Given the description of an element on the screen output the (x, y) to click on. 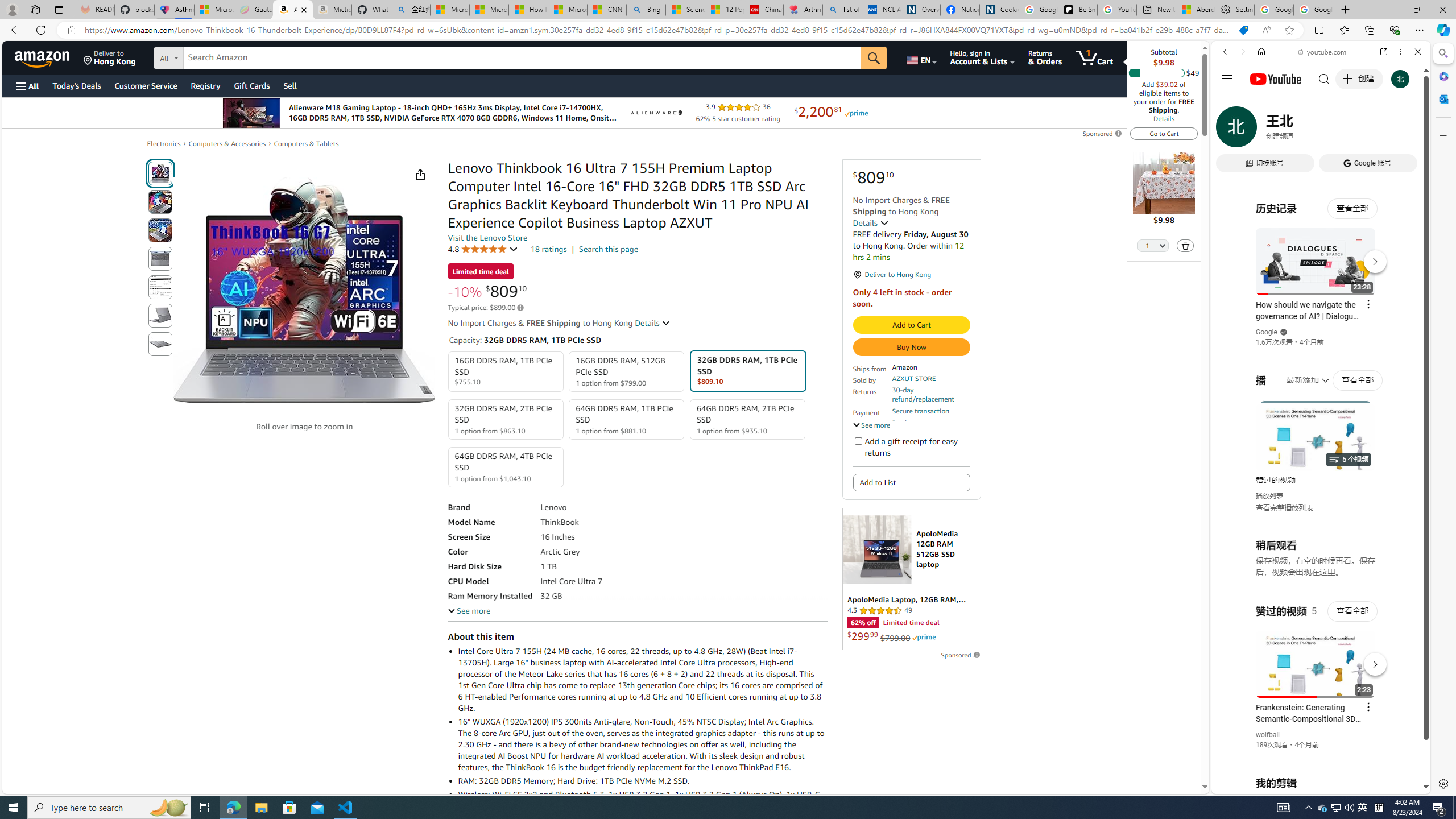
Search videos from youtube.com (1299, 373)
16GB DDR5 RAM, 512GB PCIe SSD 1 option from $799.00 (626, 371)
Sponsored ad (911, 578)
Cookies (999, 9)
Computers & Accessories (226, 144)
Go (873, 57)
